Given the description of an element on the screen output the (x, y) to click on. 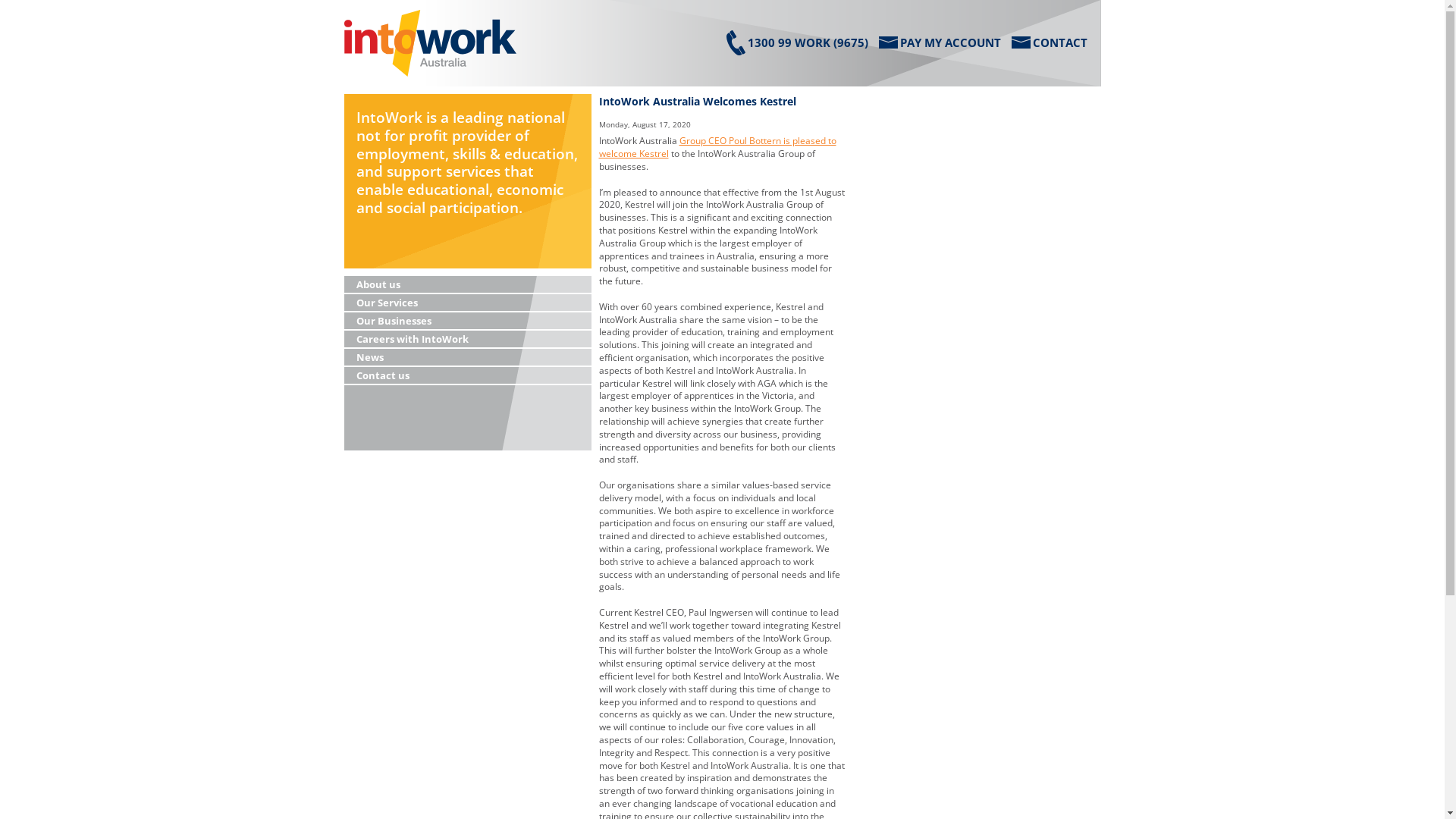
Our Services Element type: text (467, 303)
Our Businesses Element type: text (467, 321)
CONTACT Element type: text (1049, 42)
Contact us Element type: text (467, 376)
Group CEO Poul Bottern is pleased to welcome Kestrel Element type: text (717, 147)
About us Element type: text (467, 285)
News Element type: text (467, 357)
Careers with IntoWork Element type: text (467, 339)
1300 99 WORK (9675) Element type: text (797, 42)
PAY MY ACCOUNT Element type: text (939, 42)
